Given the description of an element on the screen output the (x, y) to click on. 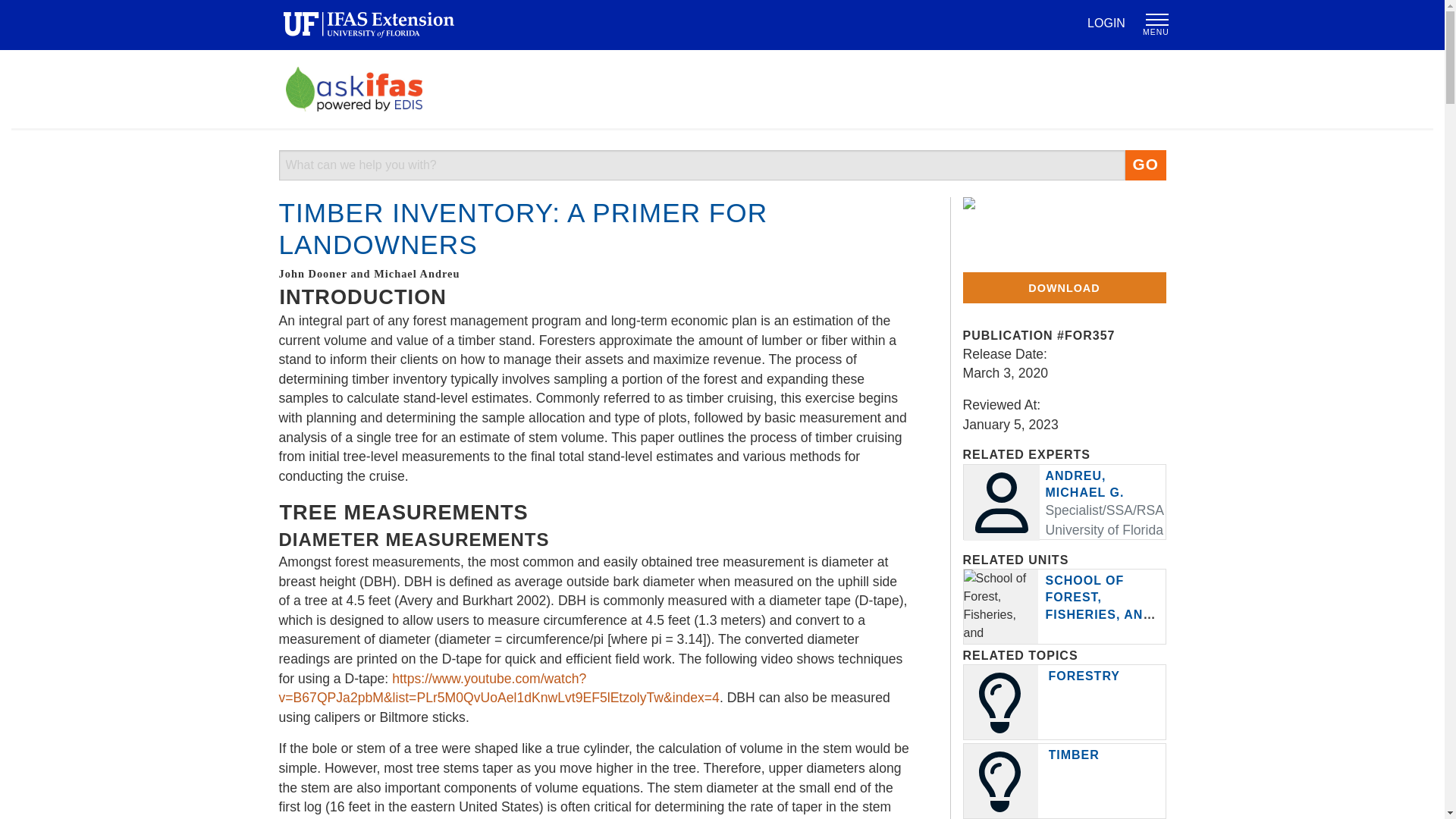
FORESTRY (1083, 675)
ANDREU, MICHAEL G. (1084, 483)
AskIFAS Powered by EDIS (353, 88)
AskIFAS Powered by EDIS (721, 88)
TIMBER (1073, 754)
GO (1145, 164)
EDIS Search (702, 164)
LOGIN (1106, 22)
Peer Reviewed (1038, 229)
School of Forest, Fisheries, and Geomatics Sciences (1099, 614)
Forestry (1083, 675)
Andreu, Michael G. (1084, 483)
GO (1145, 164)
SCHOOL OF FOREST, FISHERIES, AND GEOMATICS SCIENCES (1099, 614)
Timber (1073, 754)
